Given the description of an element on the screen output the (x, y) to click on. 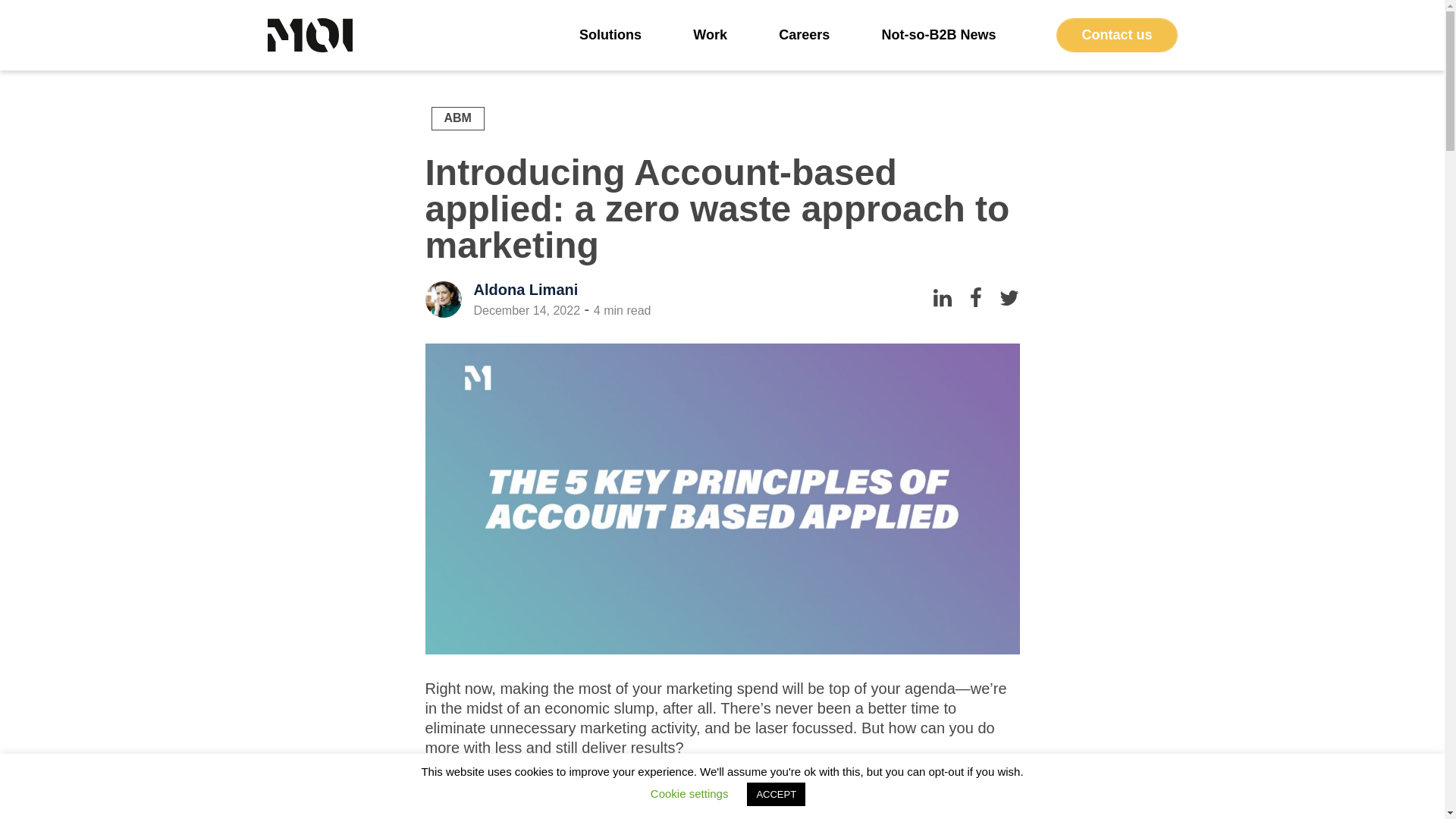
Contact us (1116, 35)
Solutions (610, 35)
Careers (804, 35)
Not-so-B2B News (938, 35)
